Given the description of an element on the screen output the (x, y) to click on. 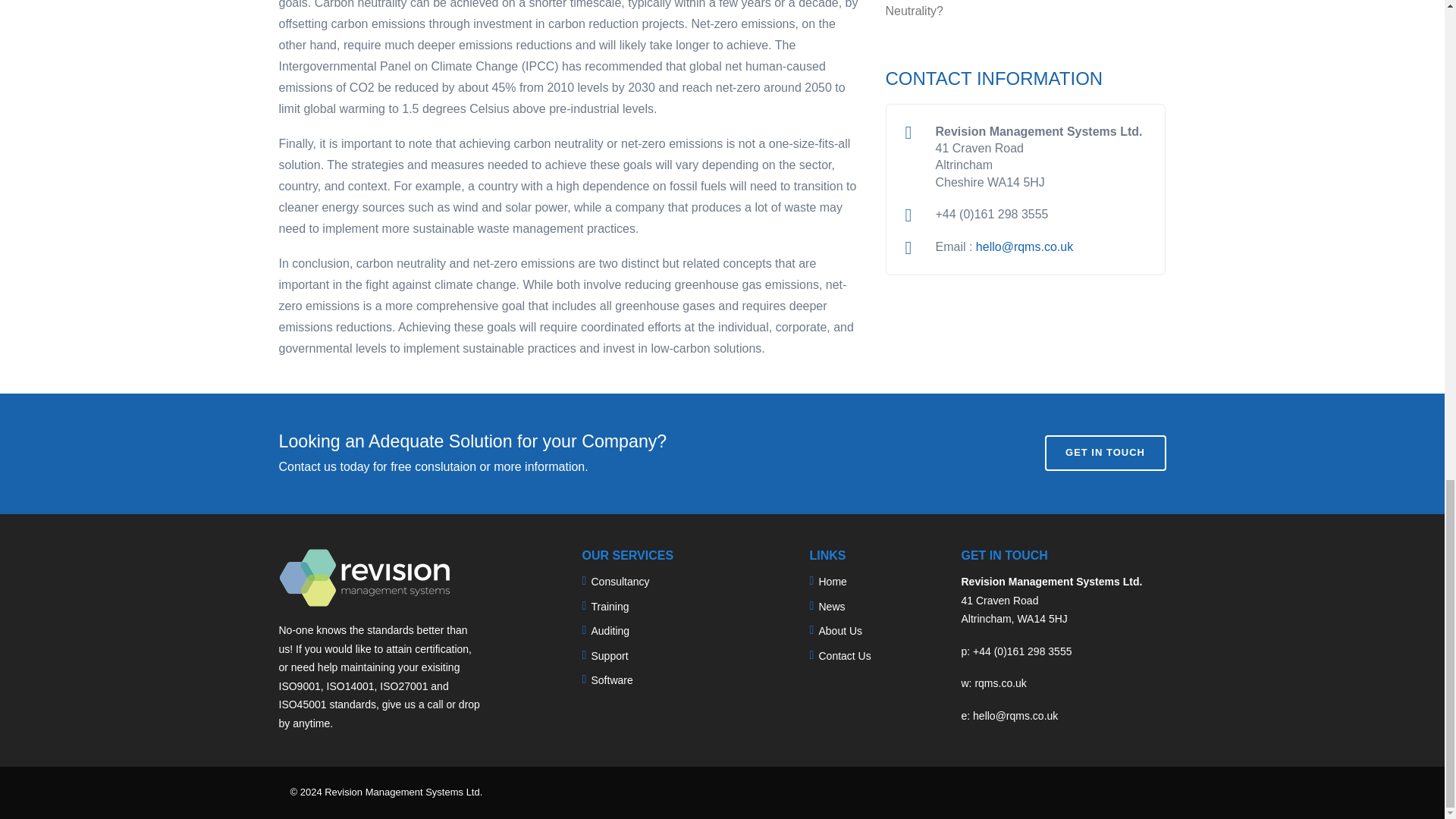
GET IN TOUCH (1105, 452)
Software (611, 680)
Support (609, 655)
Home (831, 581)
Auditing (609, 630)
Consultancy (620, 581)
Training (609, 606)
